Given the description of an element on the screen output the (x, y) to click on. 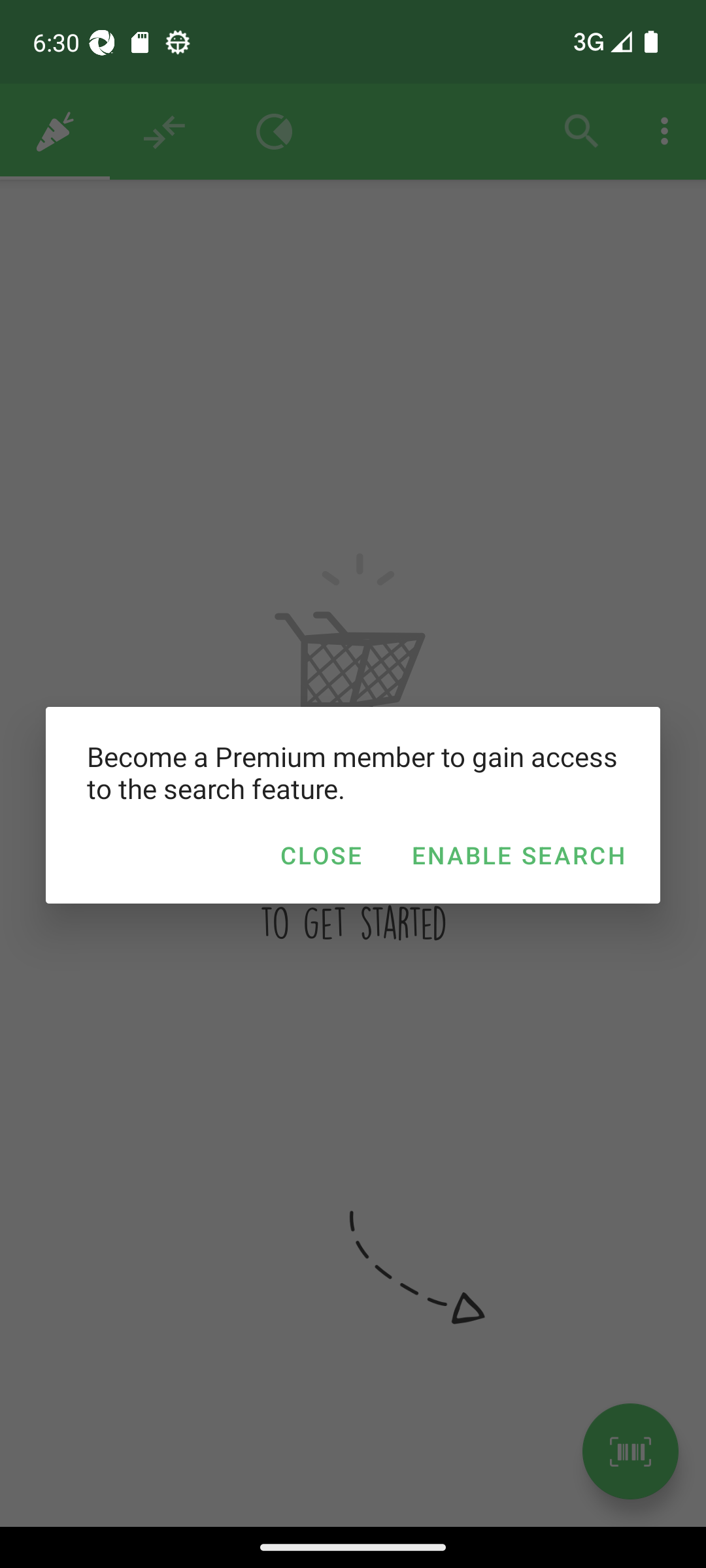
CLOSE (320, 854)
ENABLE SEARCH (517, 854)
